Given the description of an element on the screen output the (x, y) to click on. 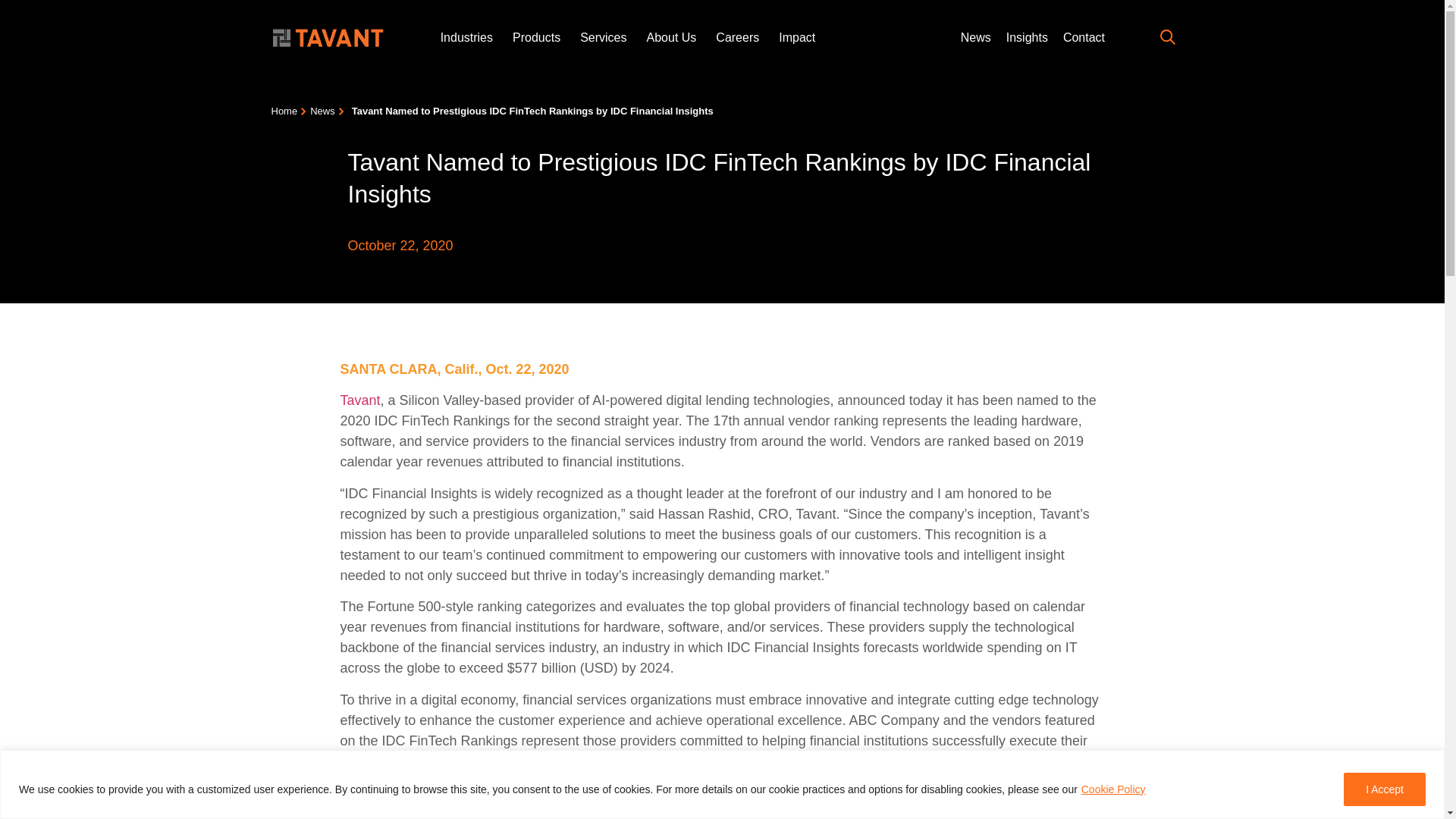
Products (536, 37)
Industries (467, 37)
Opens a widget where you can chat to one of our agents (1386, 792)
Cookie Policy (1113, 789)
I Accept (1384, 788)
Services (602, 37)
